Given the description of an element on the screen output the (x, y) to click on. 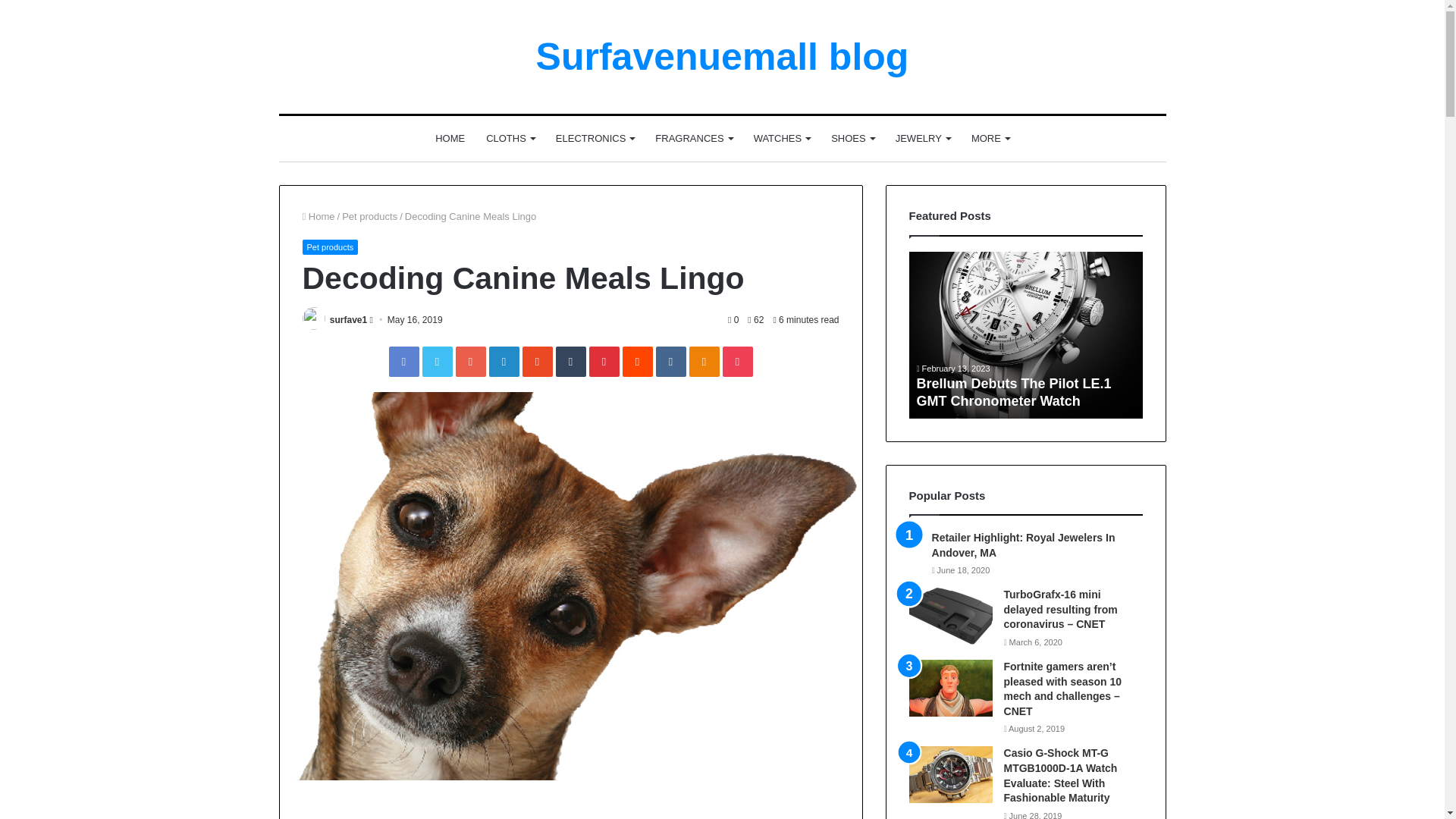
Surfavenuemall blog (721, 56)
MORE (990, 138)
Home (317, 215)
SHOES (853, 138)
Reddit (636, 361)
surfave1 (348, 319)
Pet products (369, 215)
VKontakte (670, 361)
JEWELRY (922, 138)
surfave1 (348, 319)
WATCHES (781, 138)
Pocket (737, 361)
Odnoklassniki (703, 361)
ELECTRONICS (594, 138)
CLOTHS (510, 138)
